Given the description of an element on the screen output the (x, y) to click on. 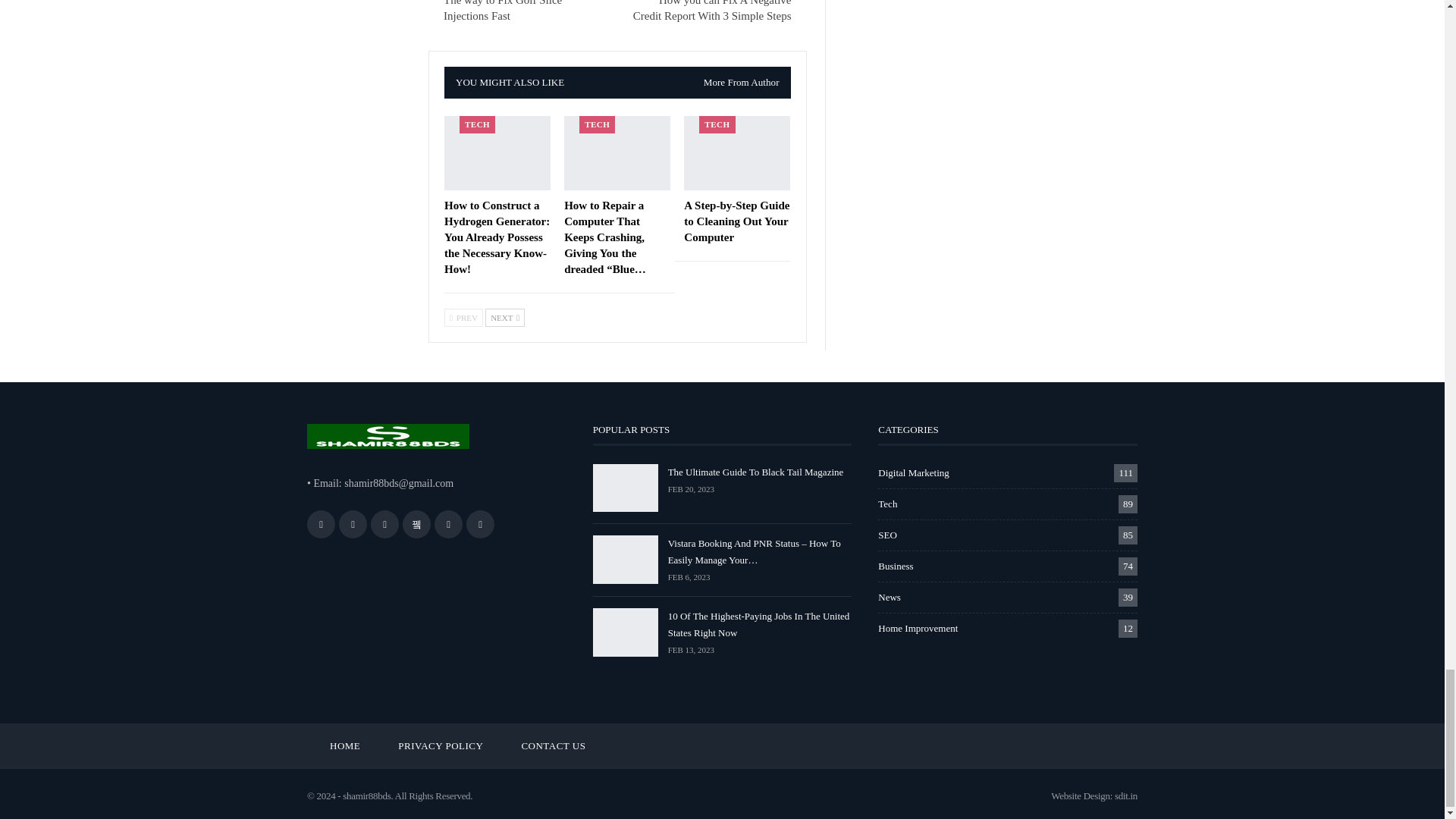
A Step-by-Step Guide to Cleaning Out Your Computer (736, 221)
Next (504, 317)
Previous (463, 317)
A Step-by-Step Guide to Cleaning Out Your Computer (737, 153)
